Given the description of an element on the screen output the (x, y) to click on. 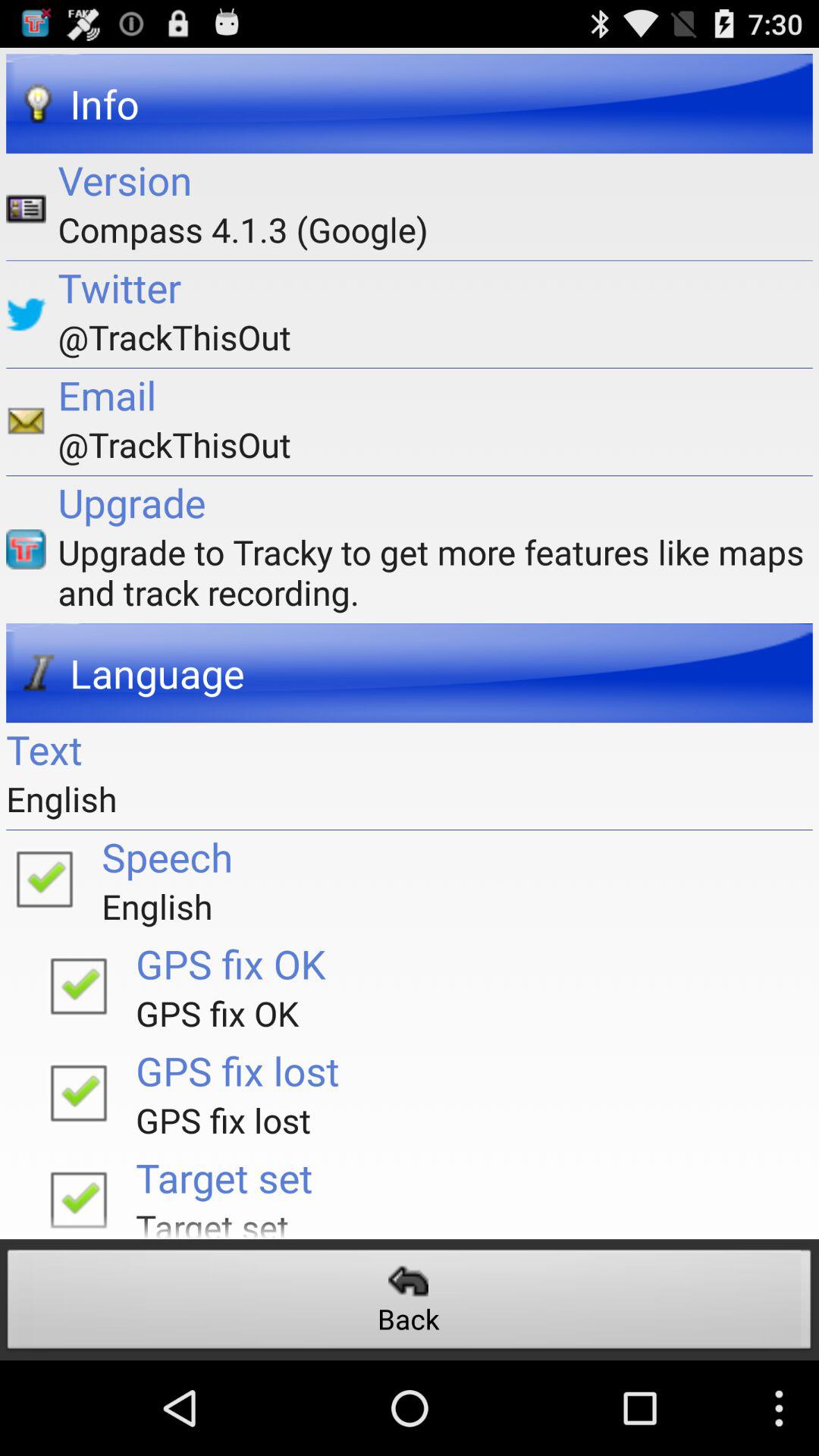
flip until back (409, 1303)
